Given the description of an element on the screen output the (x, y) to click on. 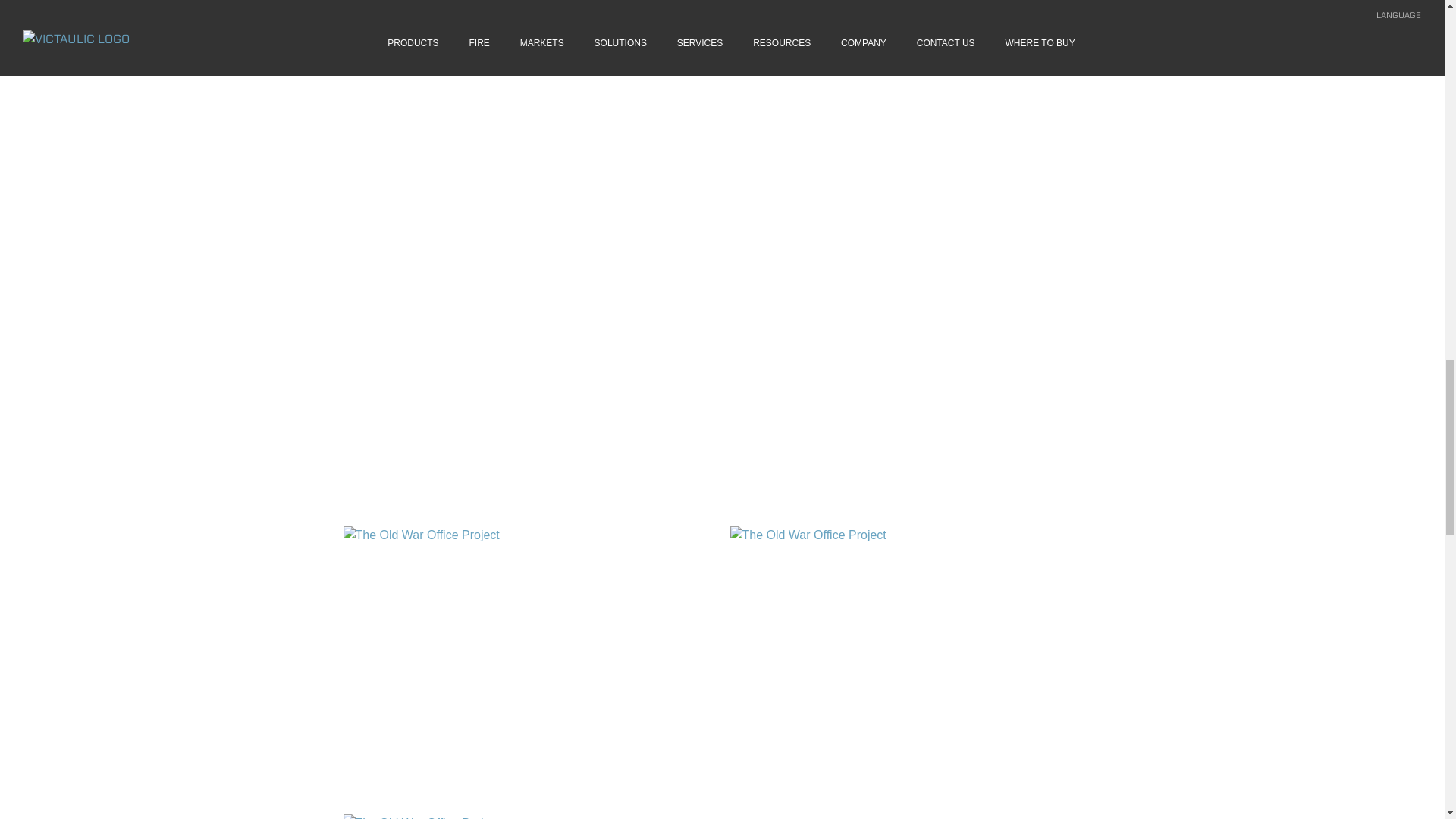
The Old War Office Project (528, 662)
The Old War Office Project (914, 662)
